Given the description of an element on the screen output the (x, y) to click on. 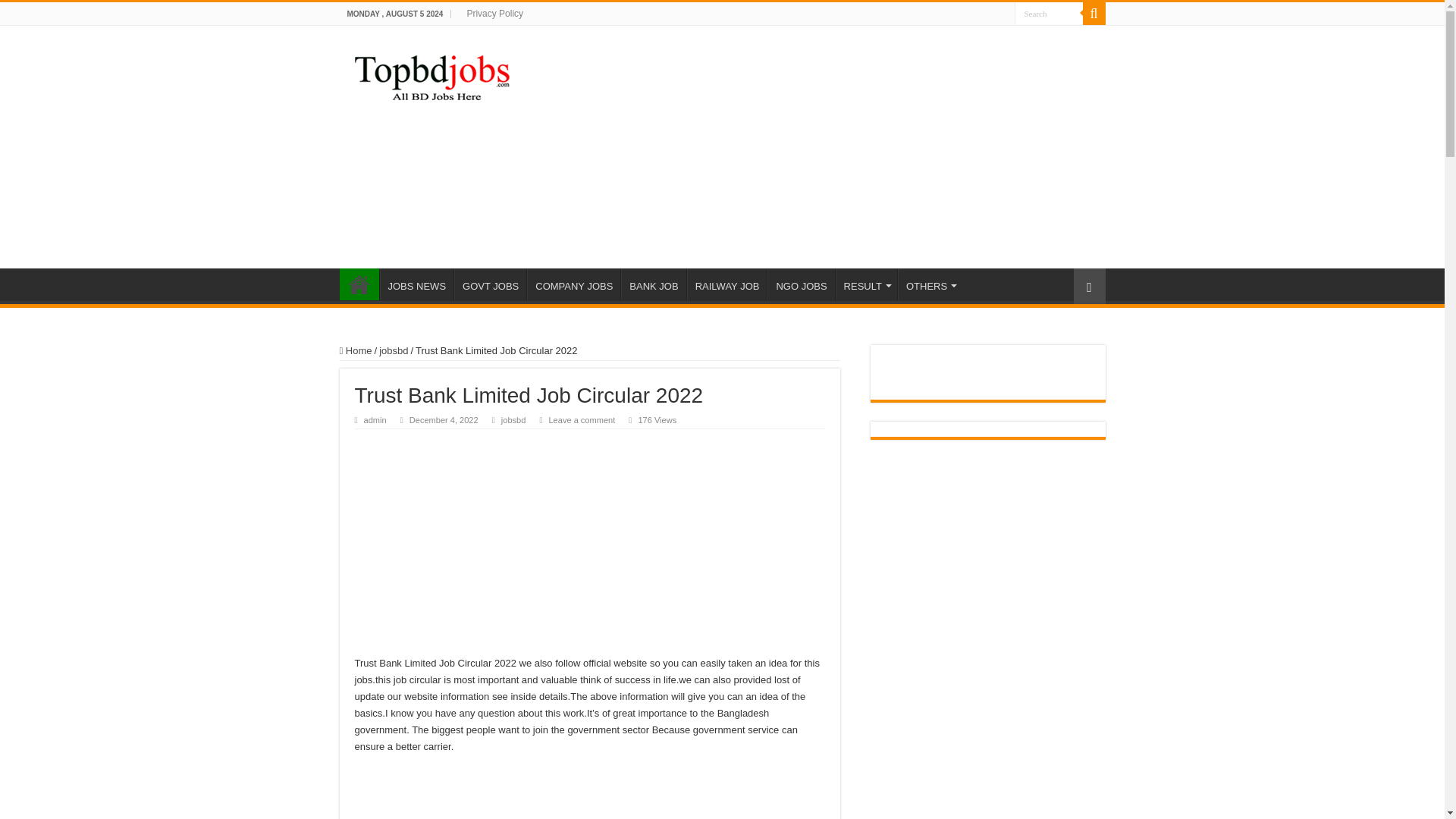
Search (1048, 13)
BANK JOB (653, 284)
RAILWAY JOB (727, 284)
Advertisement (590, 794)
TopBDjobs (431, 76)
admin (375, 420)
Search (1048, 13)
Advertisement (590, 542)
Advertisement (817, 146)
jobsbd (392, 350)
Leave a comment (581, 420)
JOBS NEWS (415, 284)
Home (355, 350)
jobsbd (512, 420)
Search (1094, 13)
